Given the description of an element on the screen output the (x, y) to click on. 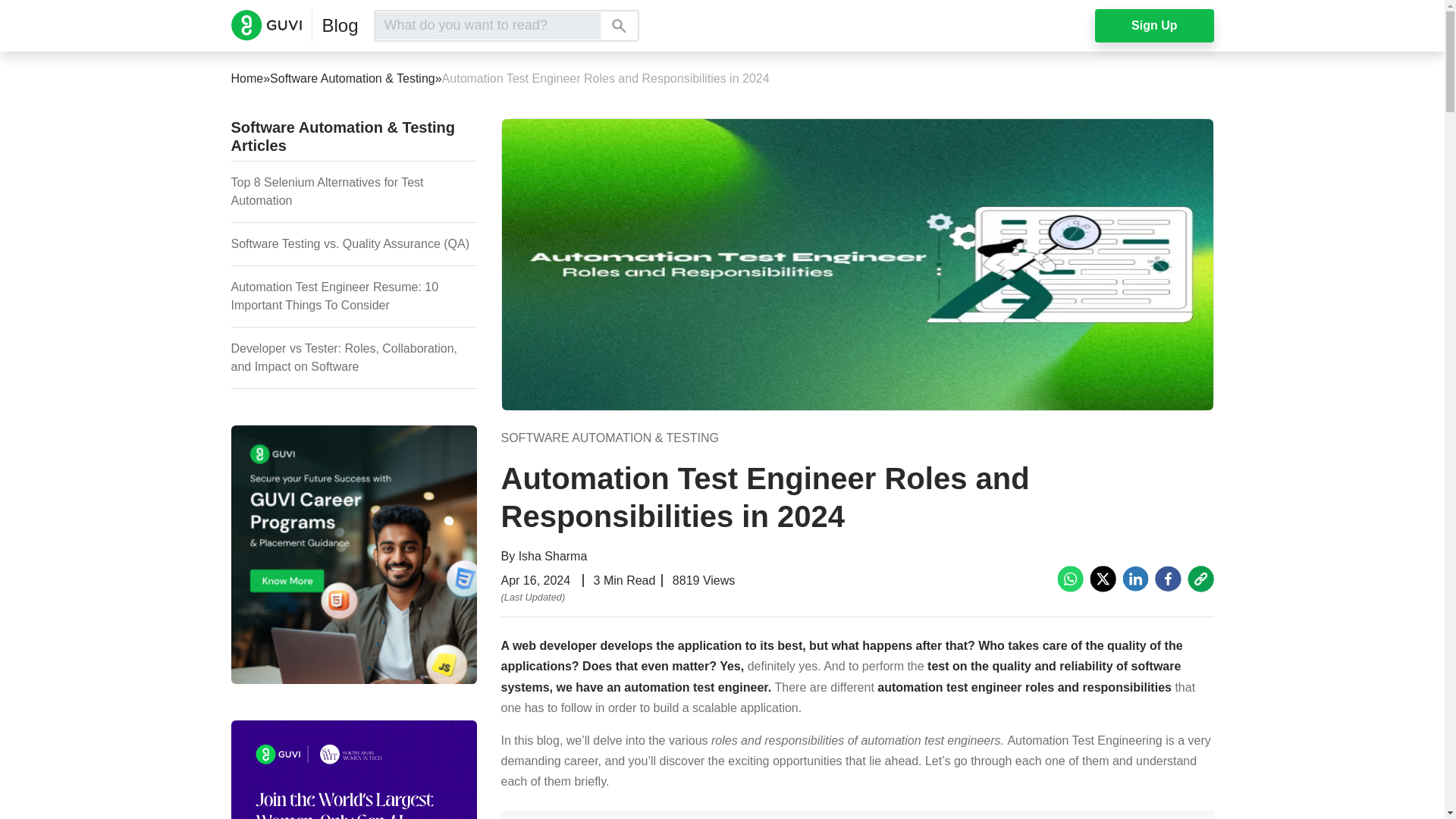
Home (246, 78)
Blog (339, 25)
Top 8 Selenium Alternatives for Test Automation (326, 191)
Sign Up (1153, 25)
